Given the description of an element on the screen output the (x, y) to click on. 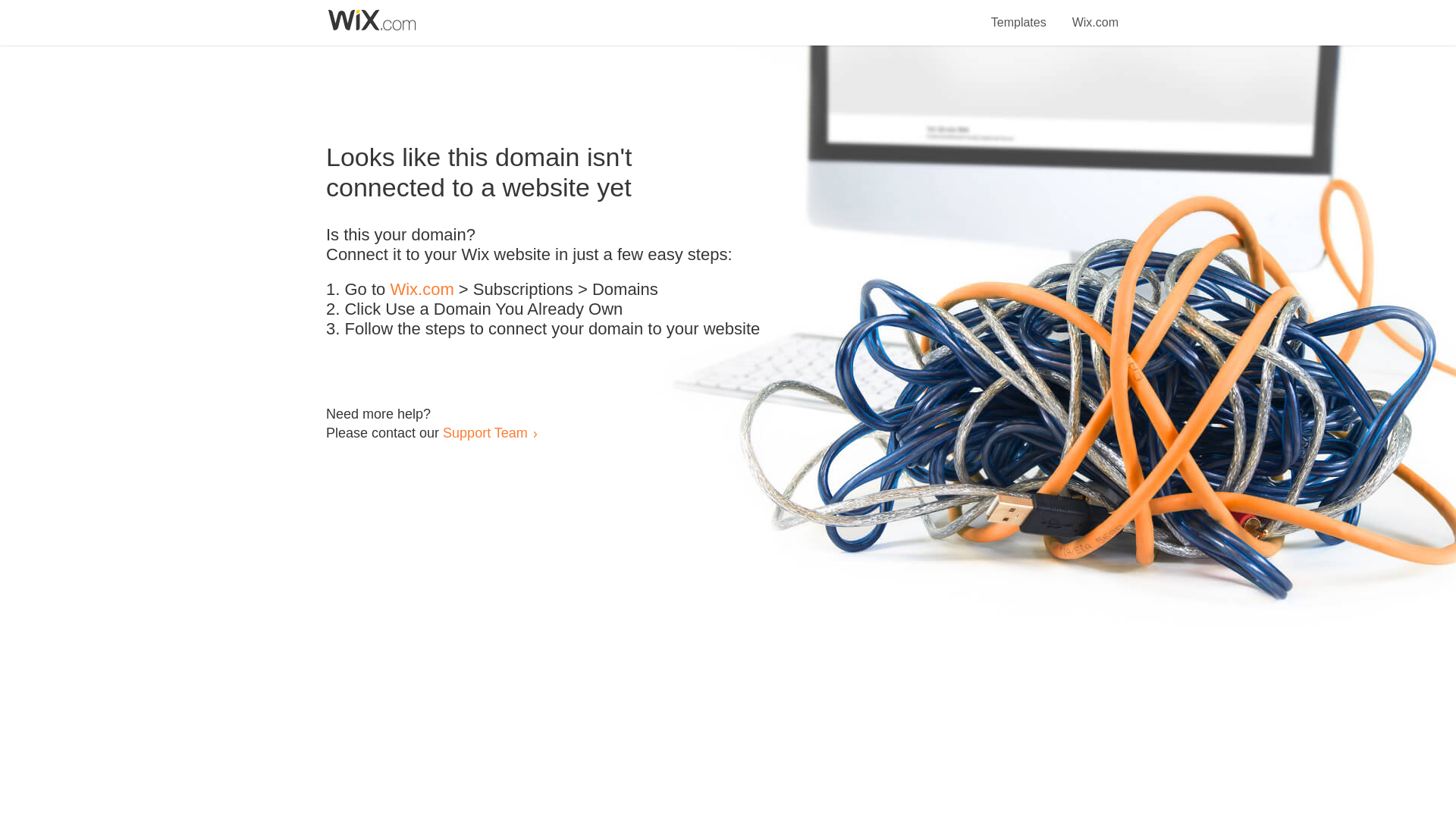
Wix.com (1095, 14)
Templates (1018, 14)
Wix.com (421, 289)
Support Team (484, 432)
